Given the description of an element on the screen output the (x, y) to click on. 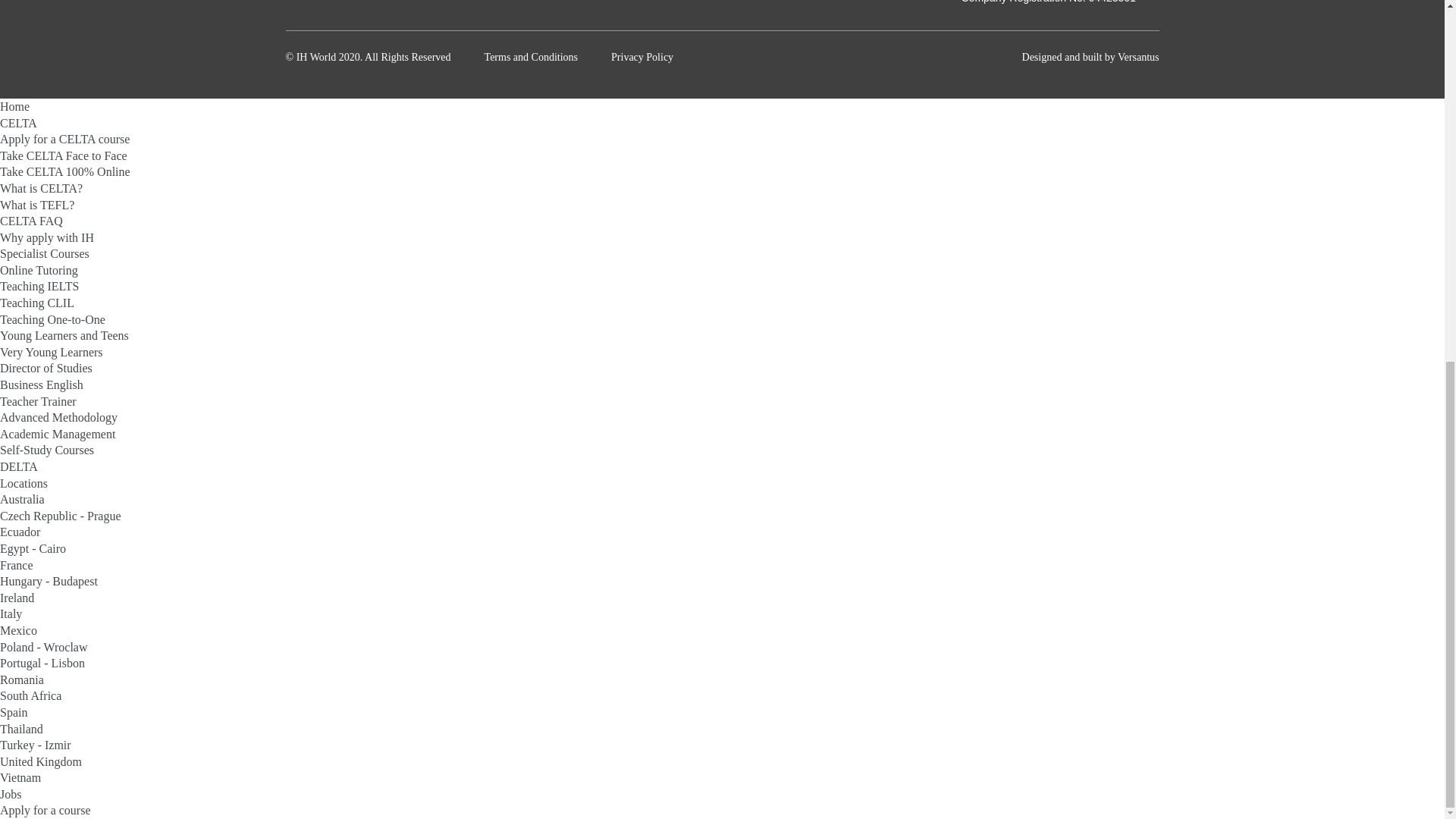
IH Self-Study Courses (47, 449)
Jobs (10, 793)
Destinations (24, 482)
